Given the description of an element on the screen output the (x, y) to click on. 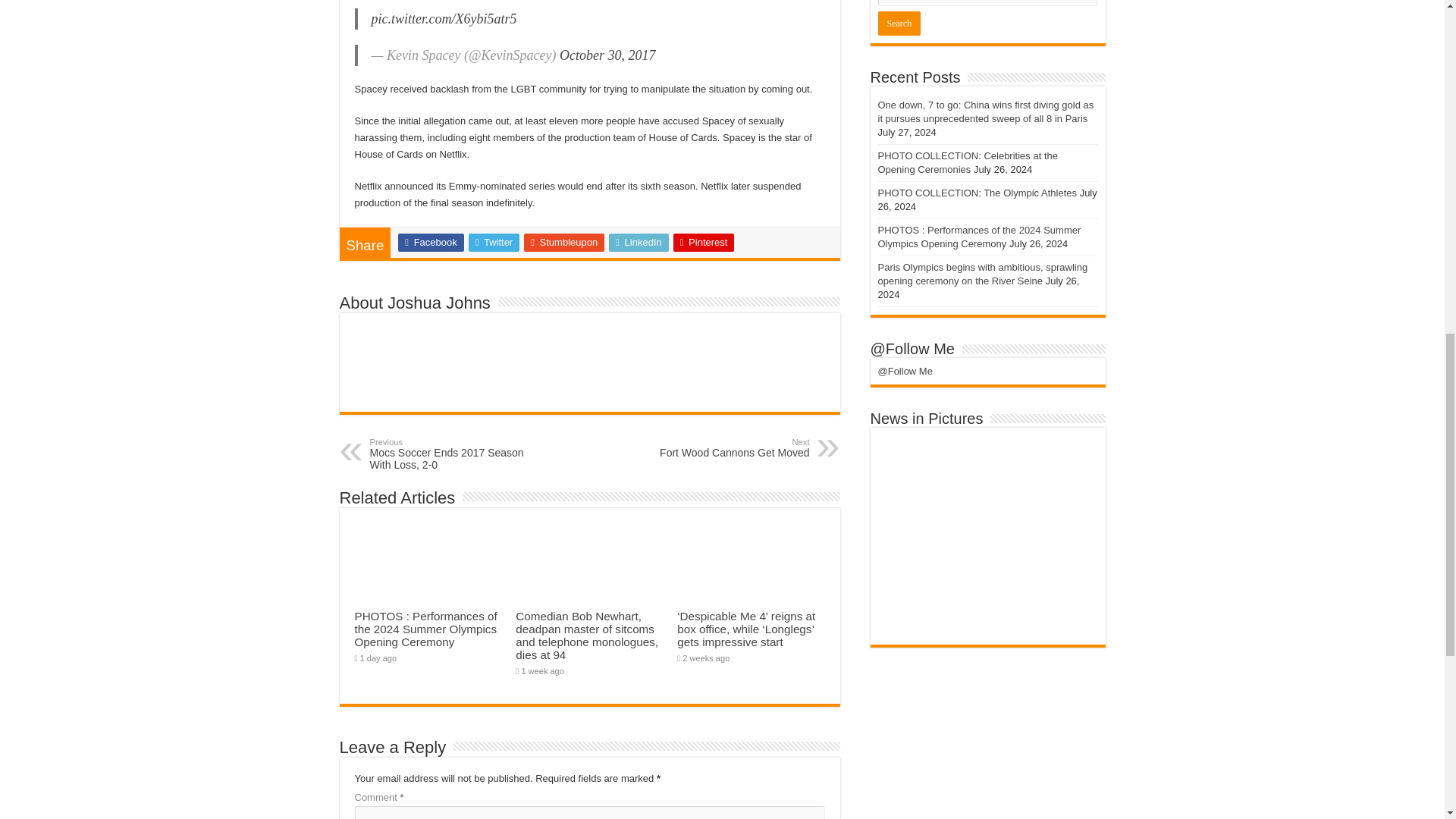
LinkedIn (638, 242)
October 30, 2017 (607, 55)
Search (899, 23)
Stumbleupon (564, 242)
Search (899, 23)
Facebook (430, 242)
Twitter (493, 242)
